Given the description of an element on the screen output the (x, y) to click on. 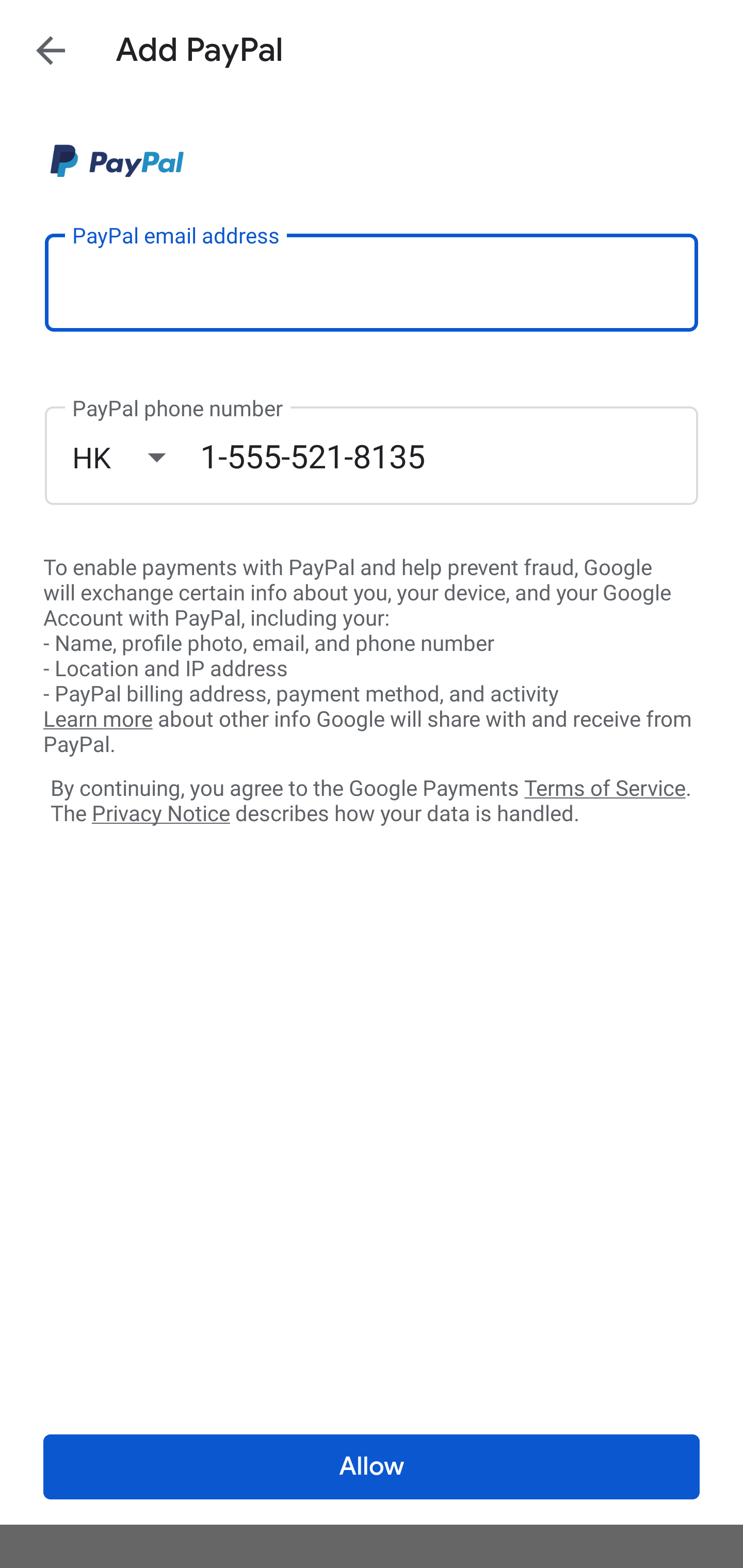
Navigate up (50, 50)
PayPal email address (371, 282)
HK (135, 456)
Learn more (97, 719)
Terms of Service (604, 787)
Privacy Notice (160, 814)
Allow (371, 1466)
